Given the description of an element on the screen output the (x, y) to click on. 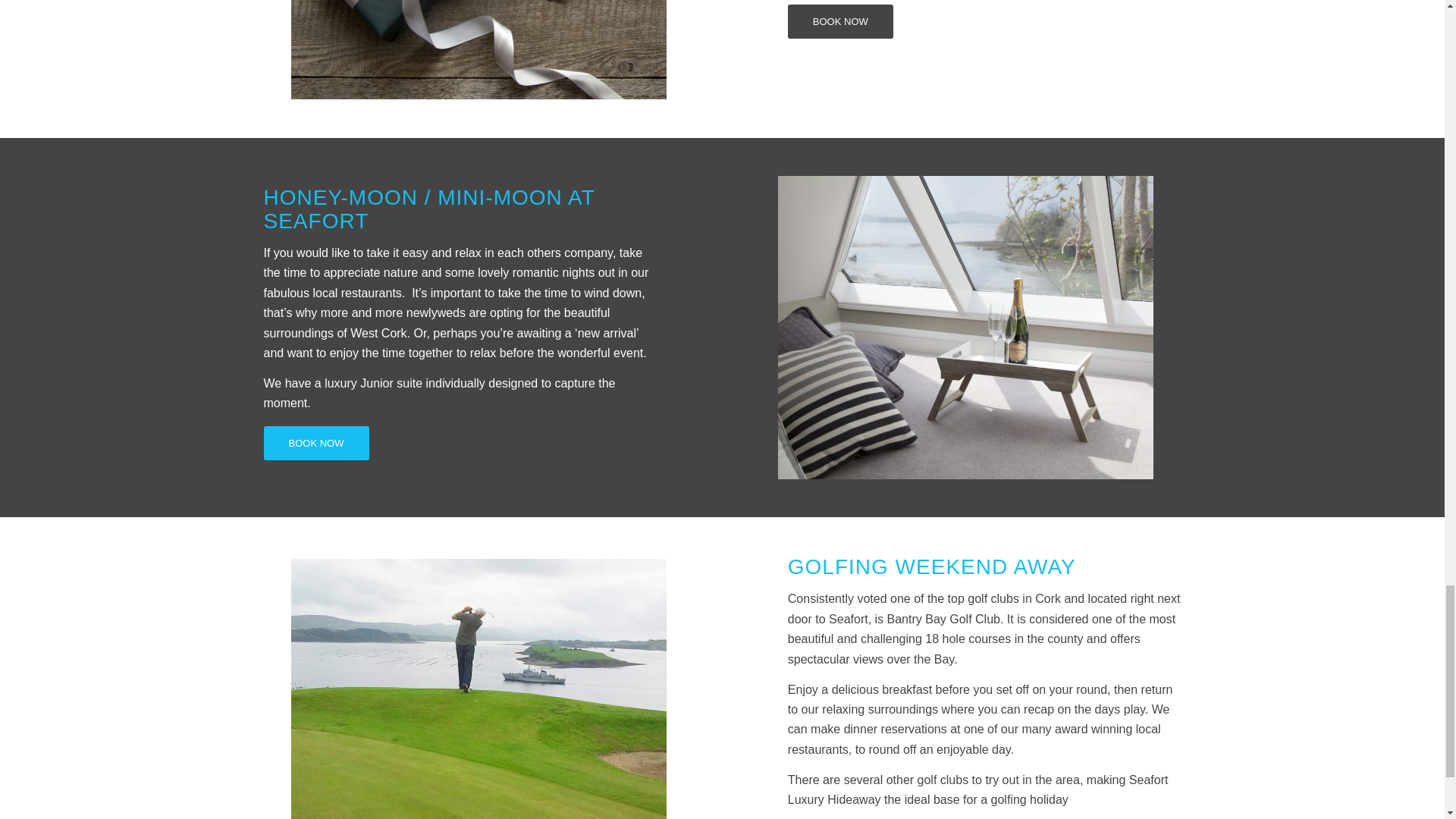
BOOK NOW (316, 442)
Gift box wrapped in black paper with ribbon on board. (478, 49)
BOOK NOW (840, 21)
